Given the description of an element on the screen output the (x, y) to click on. 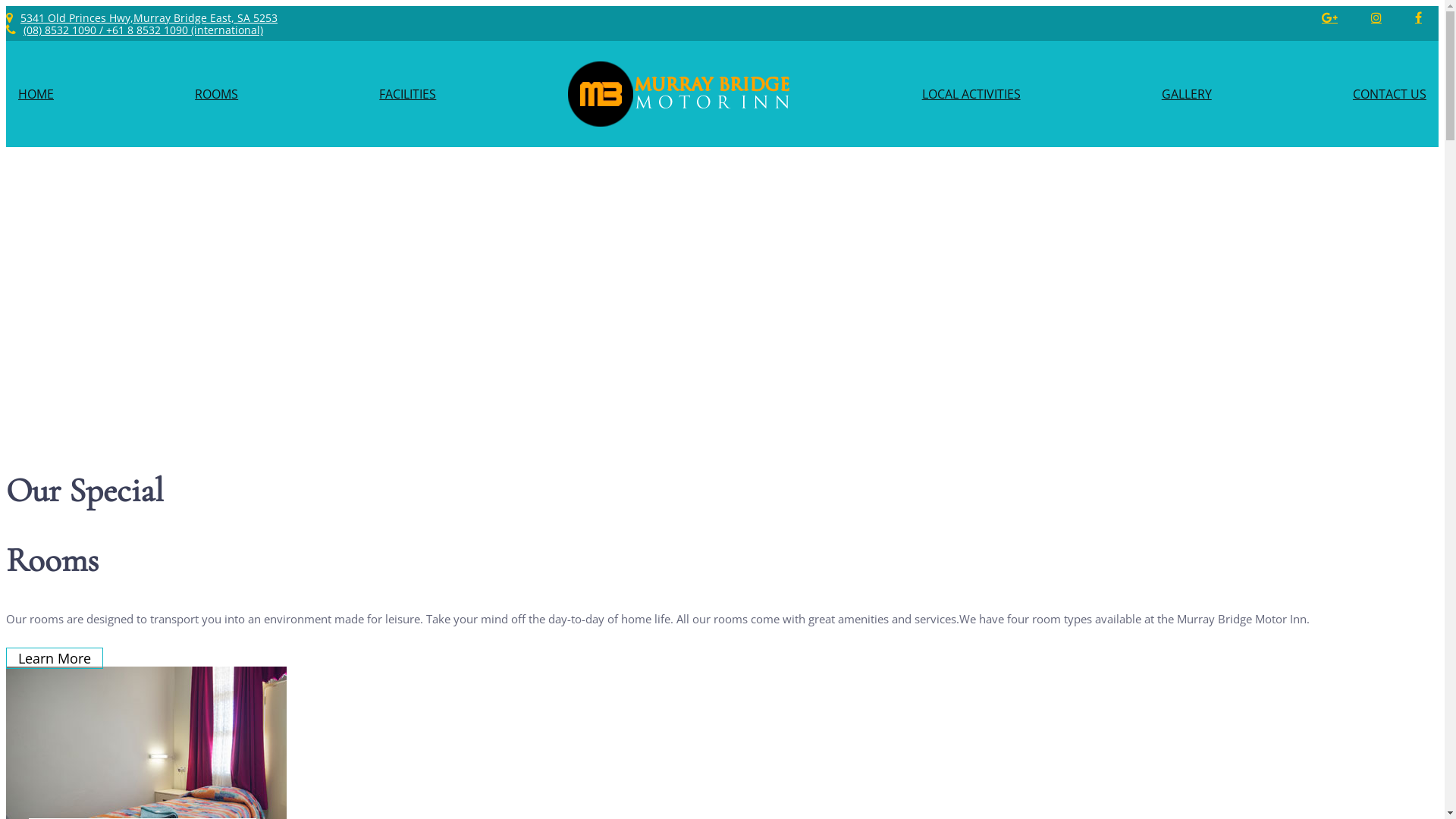
(08) 8532 1090 / +61 8 8532 1090 (international) Element type: text (142, 29)
LOCAL ACTIVITIES Element type: text (971, 93)
CONTACT US Element type: text (1389, 93)
GALLERY Element type: text (1186, 93)
5341 Old Princes Hwy,Murray Bridge East, SA 5253 Element type: text (148, 17)
FACILITIES Element type: text (407, 93)
Learn More Element type: text (54, 657)
ROOMS Element type: text (216, 93)
HOME Element type: text (35, 93)
